Given the description of an element on the screen output the (x, y) to click on. 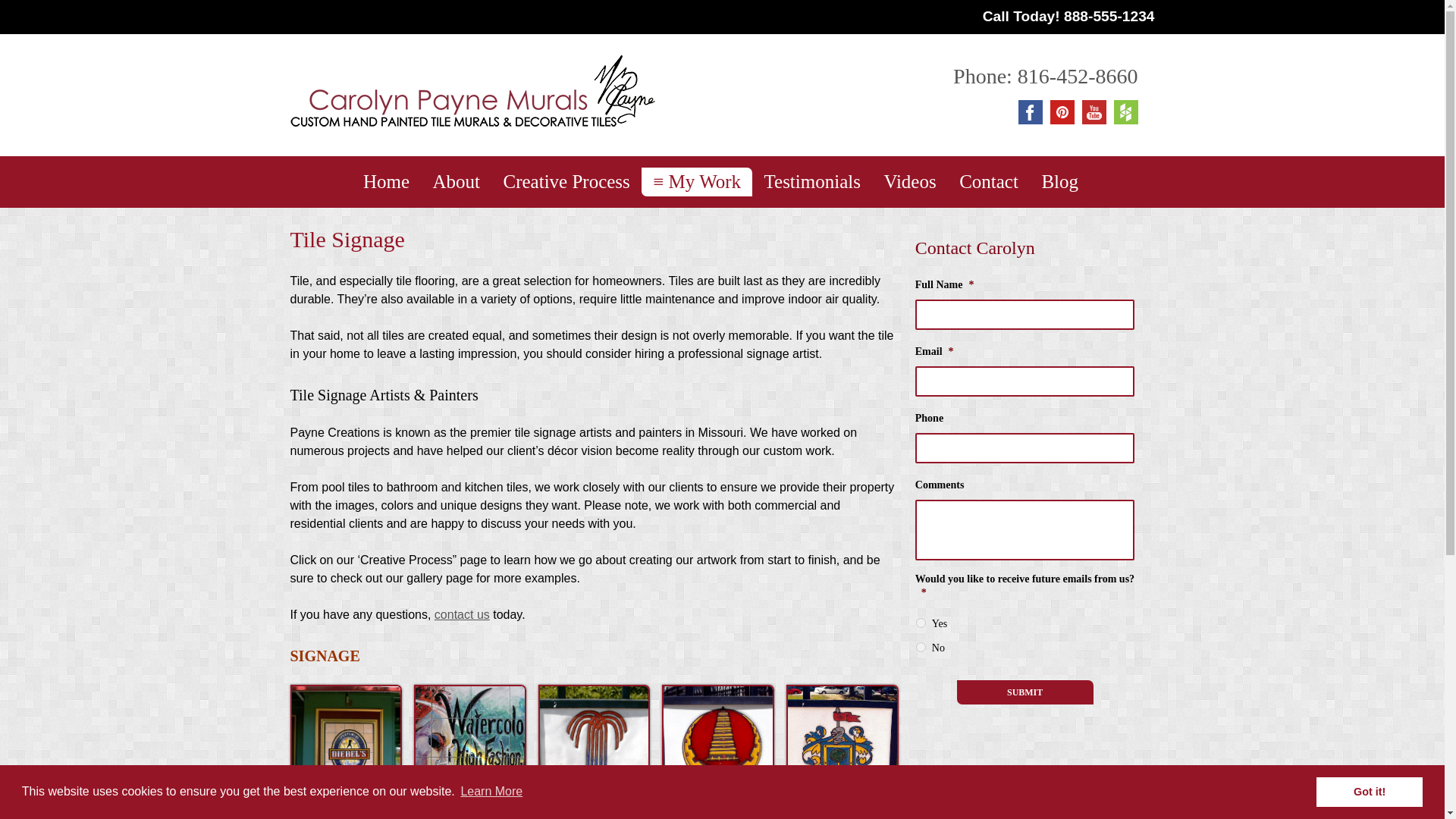
Submit (1024, 692)
Yes (920, 623)
Learn More (491, 791)
Videos (909, 181)
Blog (1059, 181)
816-452-8660 (1077, 75)
Testimonials (812, 181)
Submit (1024, 692)
Got it! (1369, 791)
contact us (461, 614)
No (920, 646)
About (457, 181)
Home (386, 181)
Creative Process (566, 181)
888-555-1234 (1109, 16)
